Given the description of an element on the screen output the (x, y) to click on. 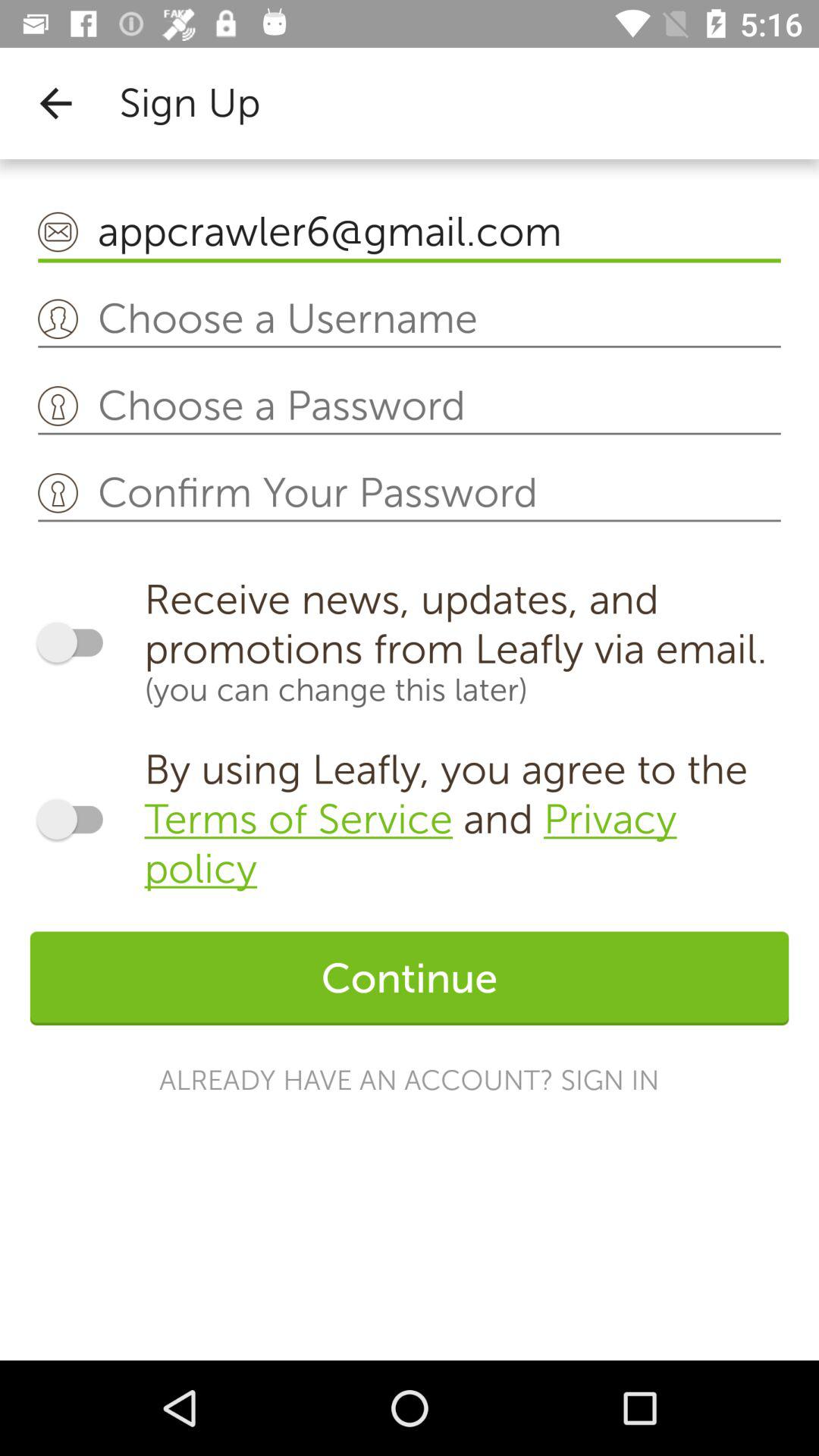
choose password (409, 406)
